Given the description of an element on the screen output the (x, y) to click on. 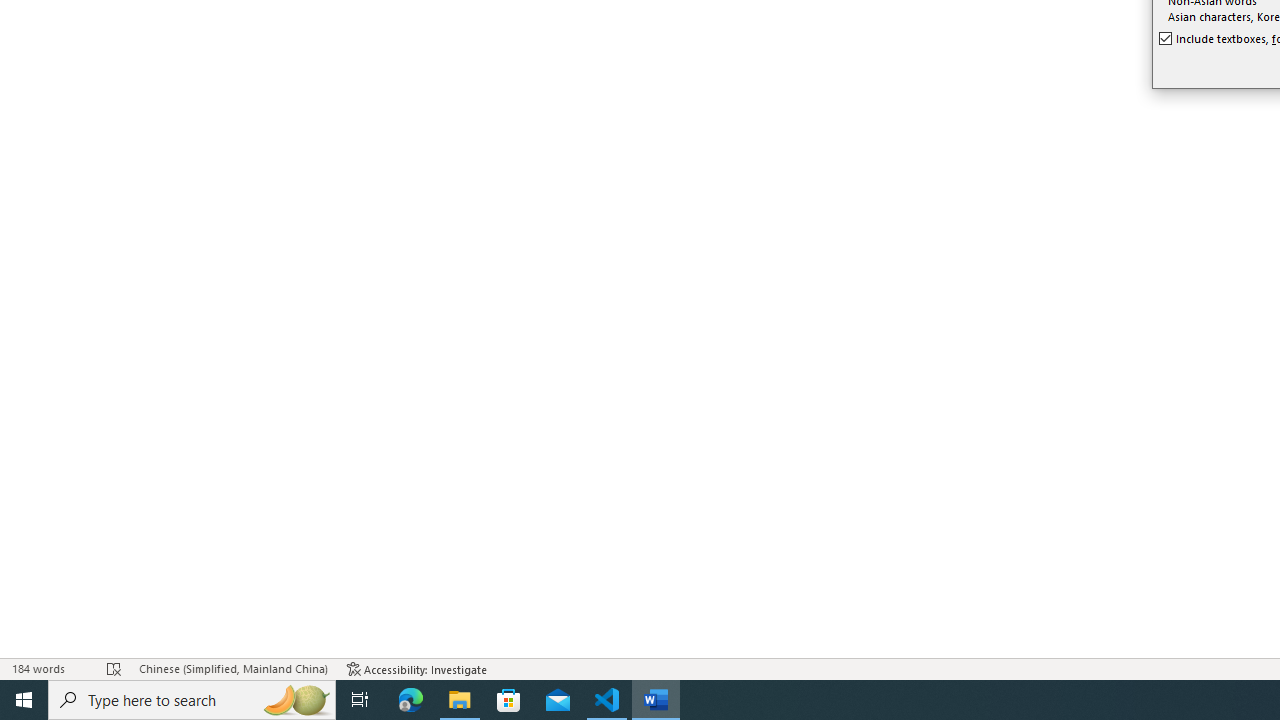
Word Count 184 words (49, 668)
Word - 1 running window (656, 699)
